Given the description of an element on the screen output the (x, y) to click on. 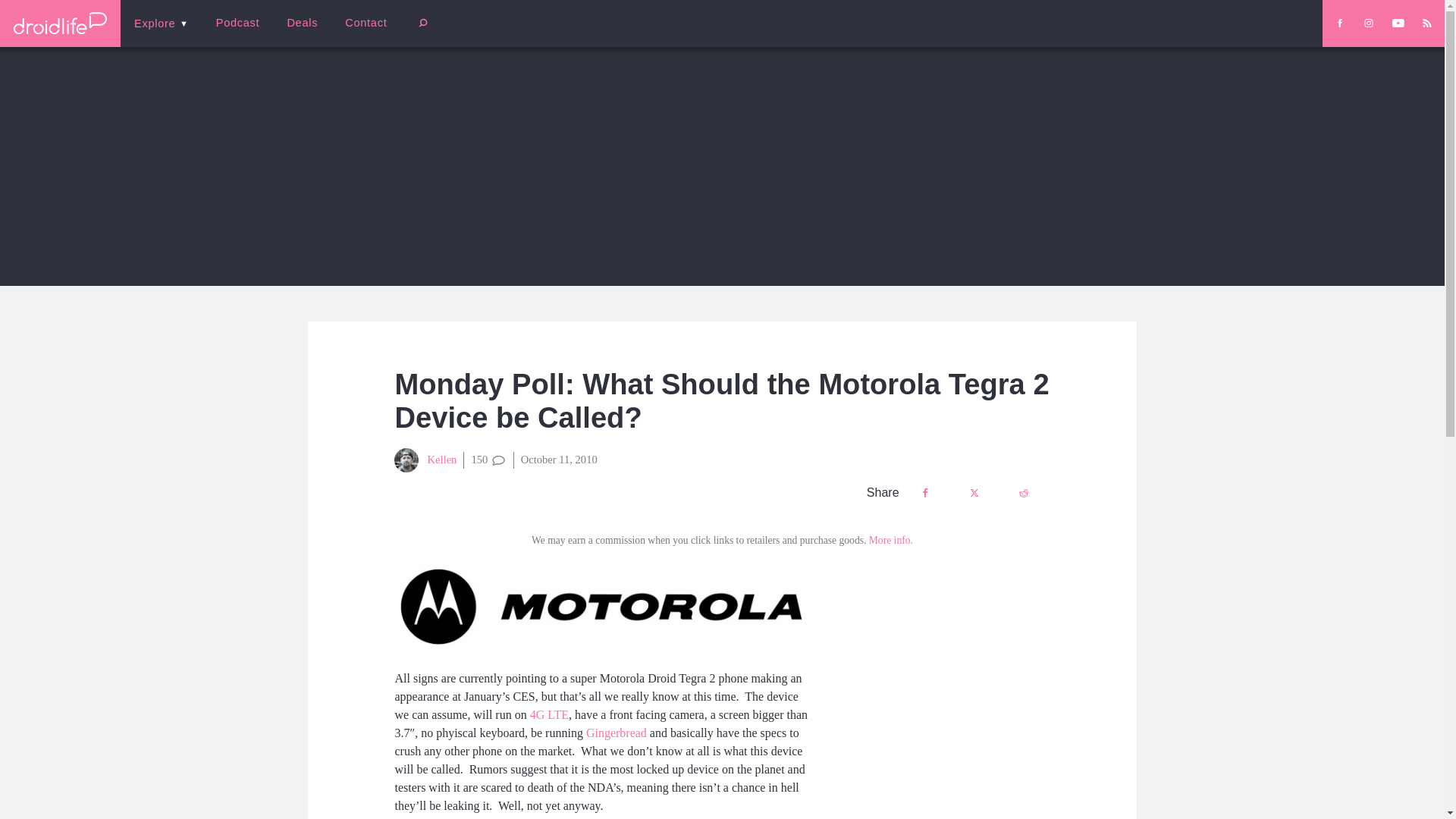
Kellen (425, 459)
Droid Life RSS (1426, 23)
Explore (161, 23)
Droid Life on YouTube (1398, 23)
Contact (365, 23)
Droid Life on Facebook (1339, 23)
Deals (302, 23)
Droid Life on Instagram (1368, 23)
Beginners' Guide (360, 33)
Podcast (237, 23)
